Given the description of an element on the screen output the (x, y) to click on. 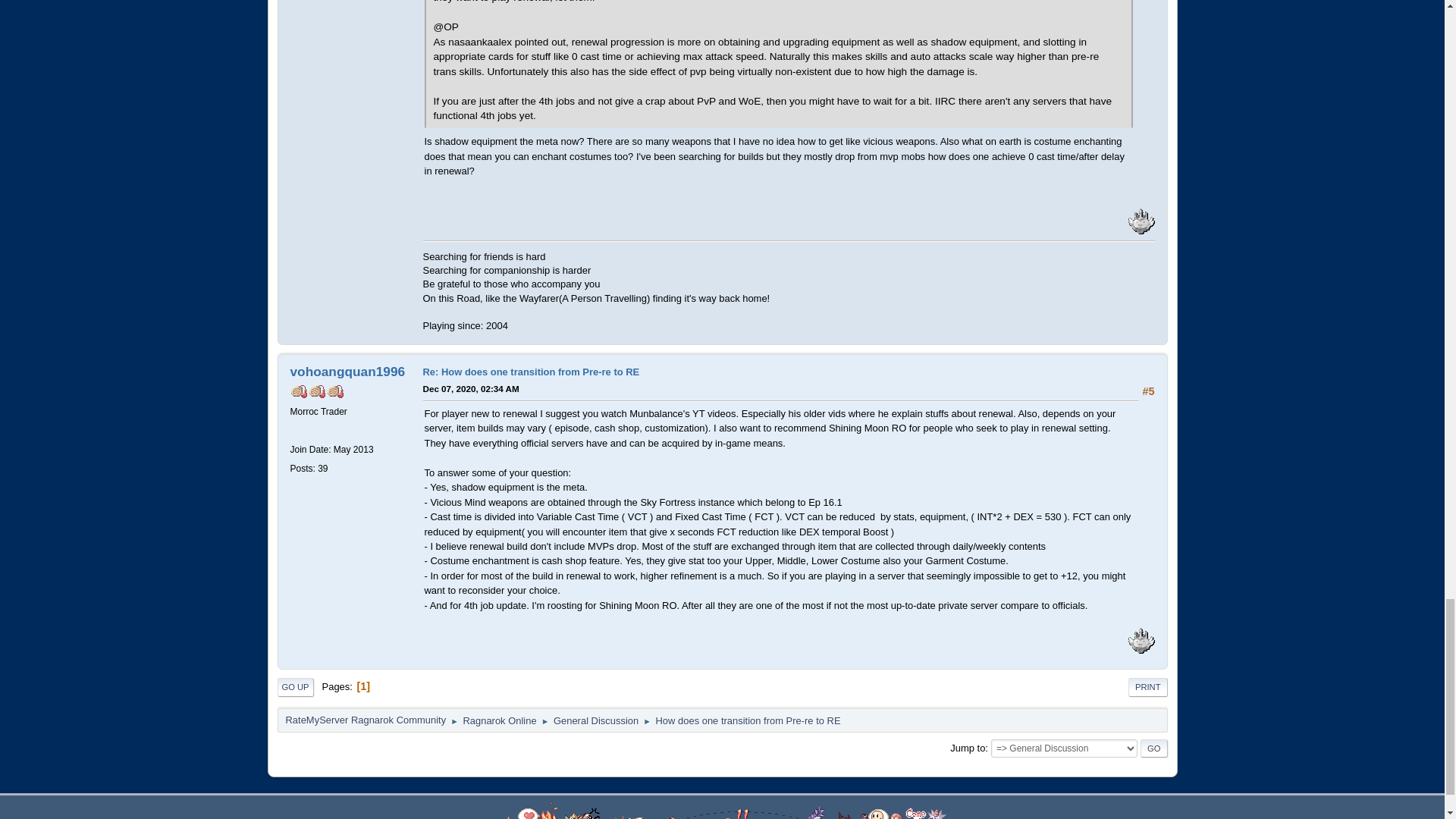
back to top (722, 811)
View the profile of vohoangquan1996 (346, 371)
Go (1153, 748)
